Given the description of an element on the screen output the (x, y) to click on. 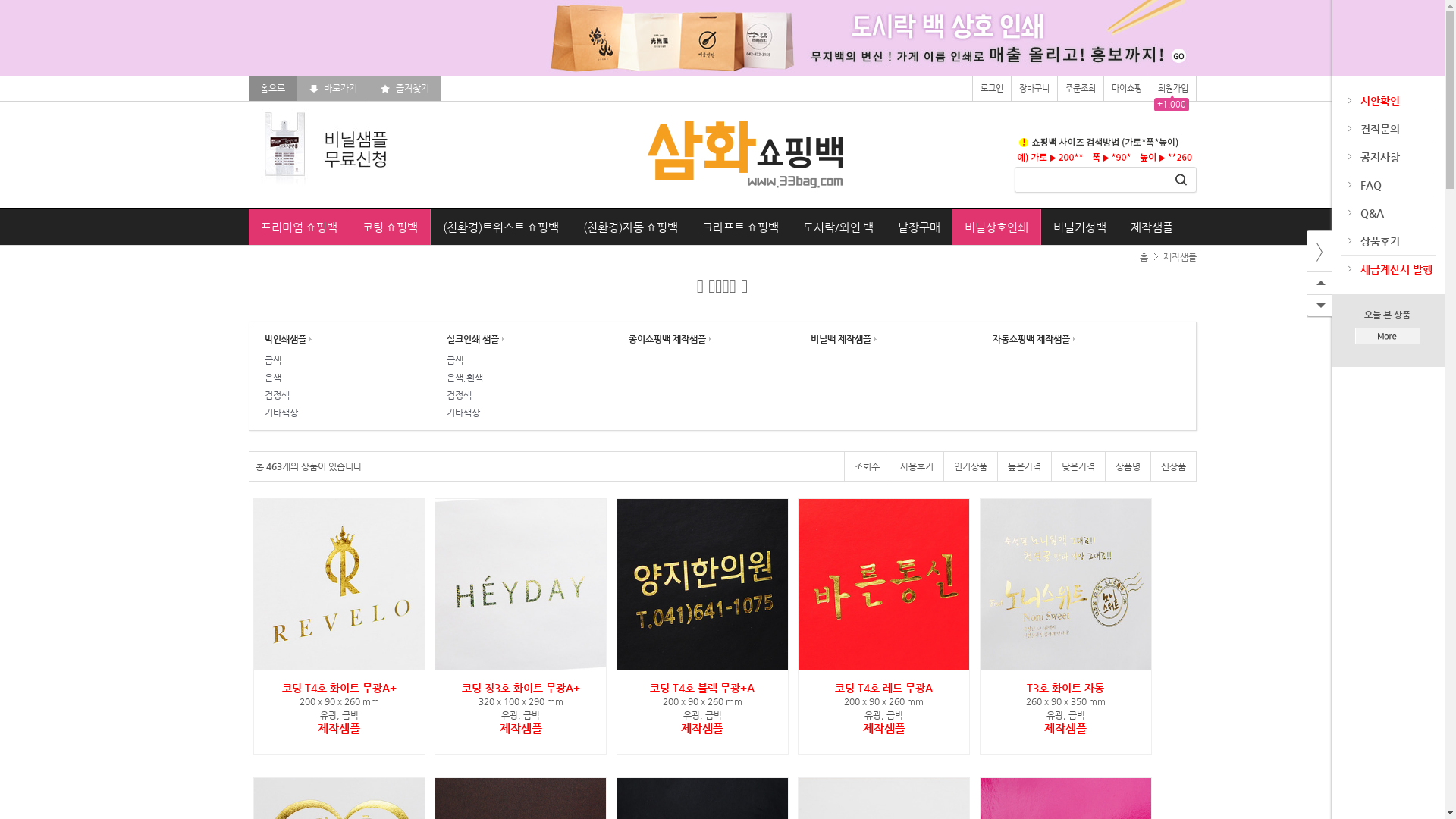
Q&A Element type: text (1371, 213)
close Element type: text (1319, 250)
FAQ Element type: text (1369, 184)
